Given the description of an element on the screen output the (x, y) to click on. 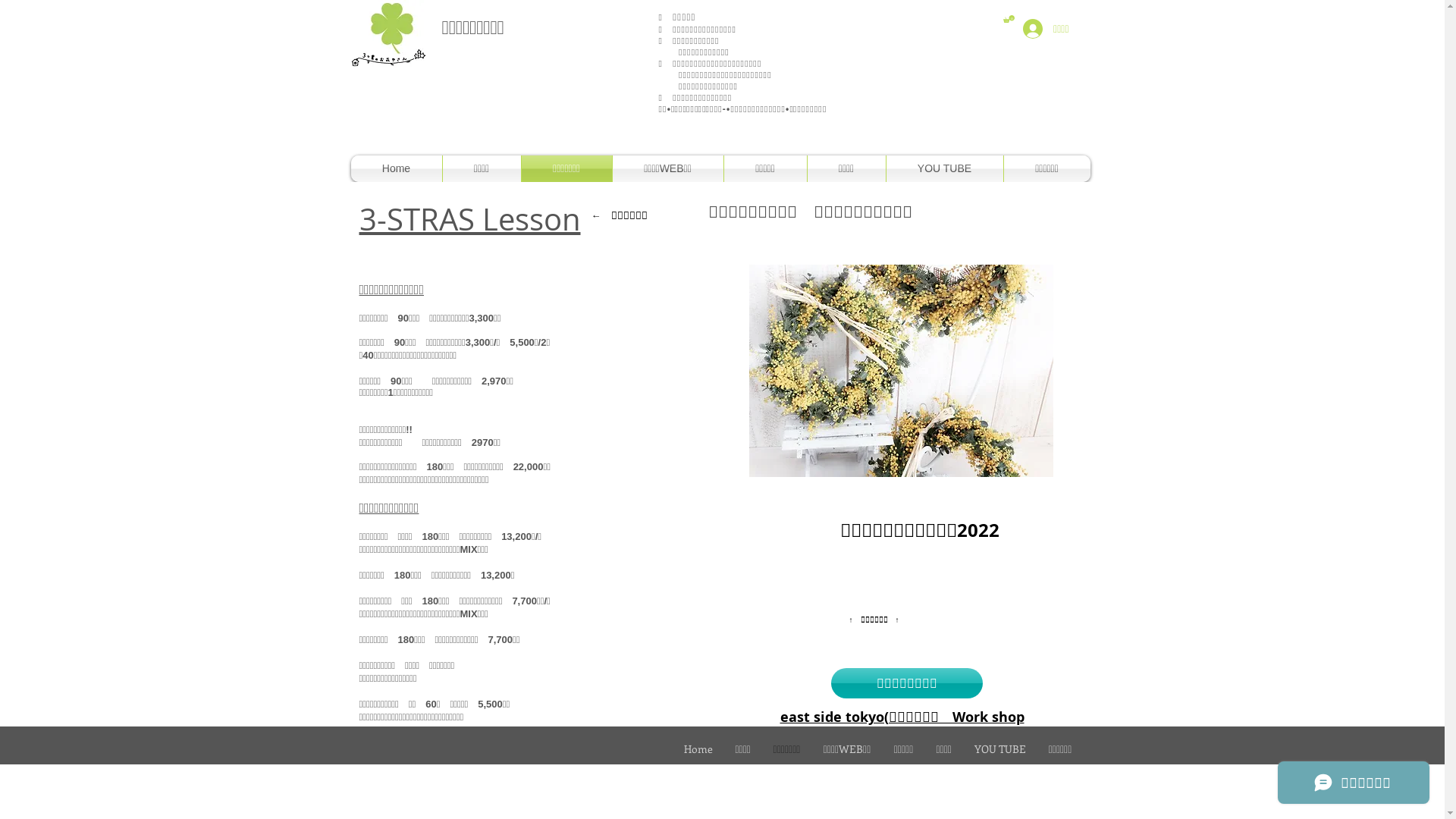
3-STRAS Lesson Element type: text (469, 218)
Home Element type: text (697, 749)
Home Element type: text (395, 168)
mitsuboshi_b.jpg Element type: hover (388, 34)
YOU TUBE Element type: text (943, 168)
YOU TUBE Element type: text (1000, 749)
0 Element type: text (1007, 18)
